Given the description of an element on the screen output the (x, y) to click on. 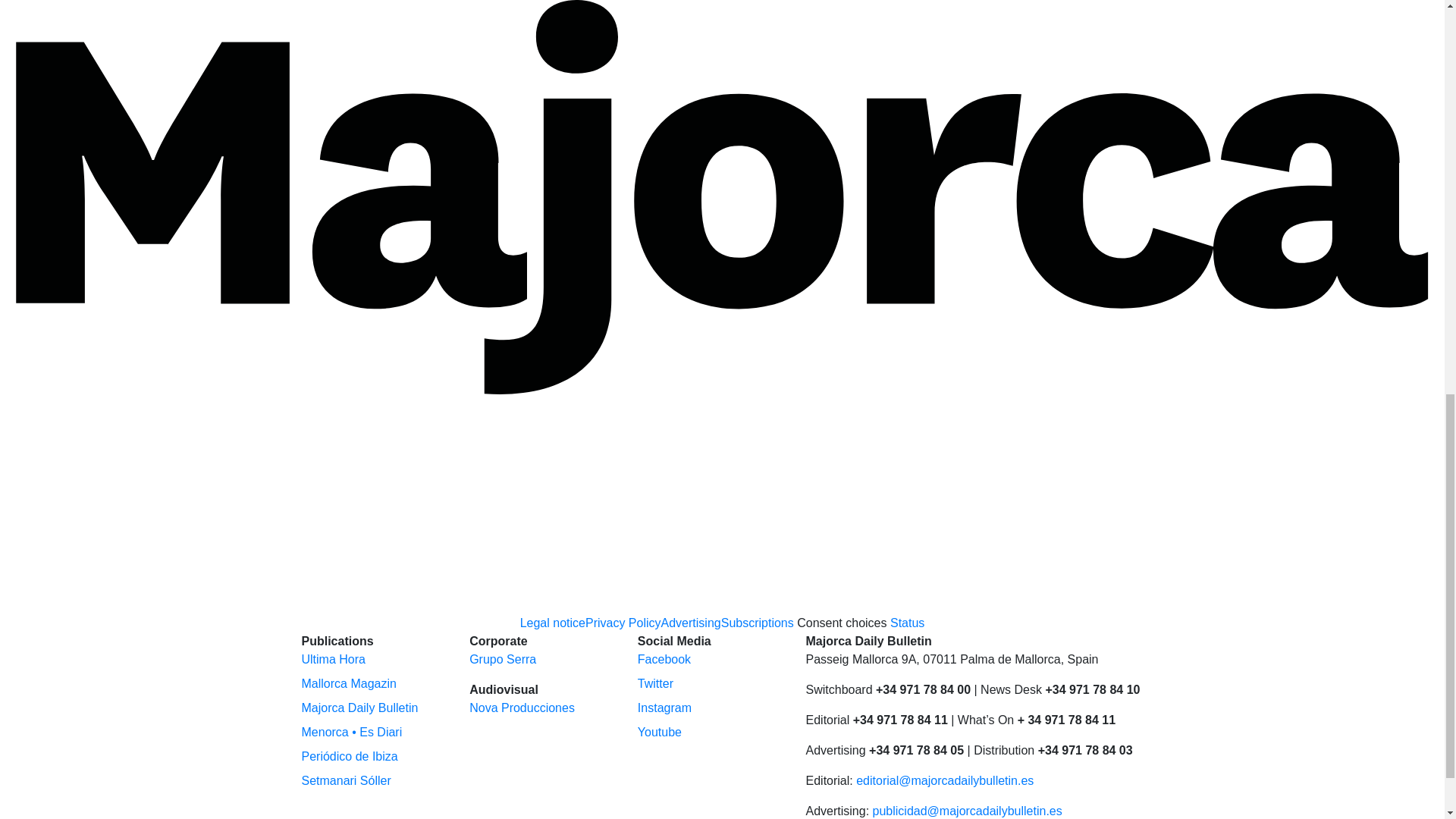
Facebook (663, 658)
Twitter (654, 683)
